Given the description of an element on the screen output the (x, y) to click on. 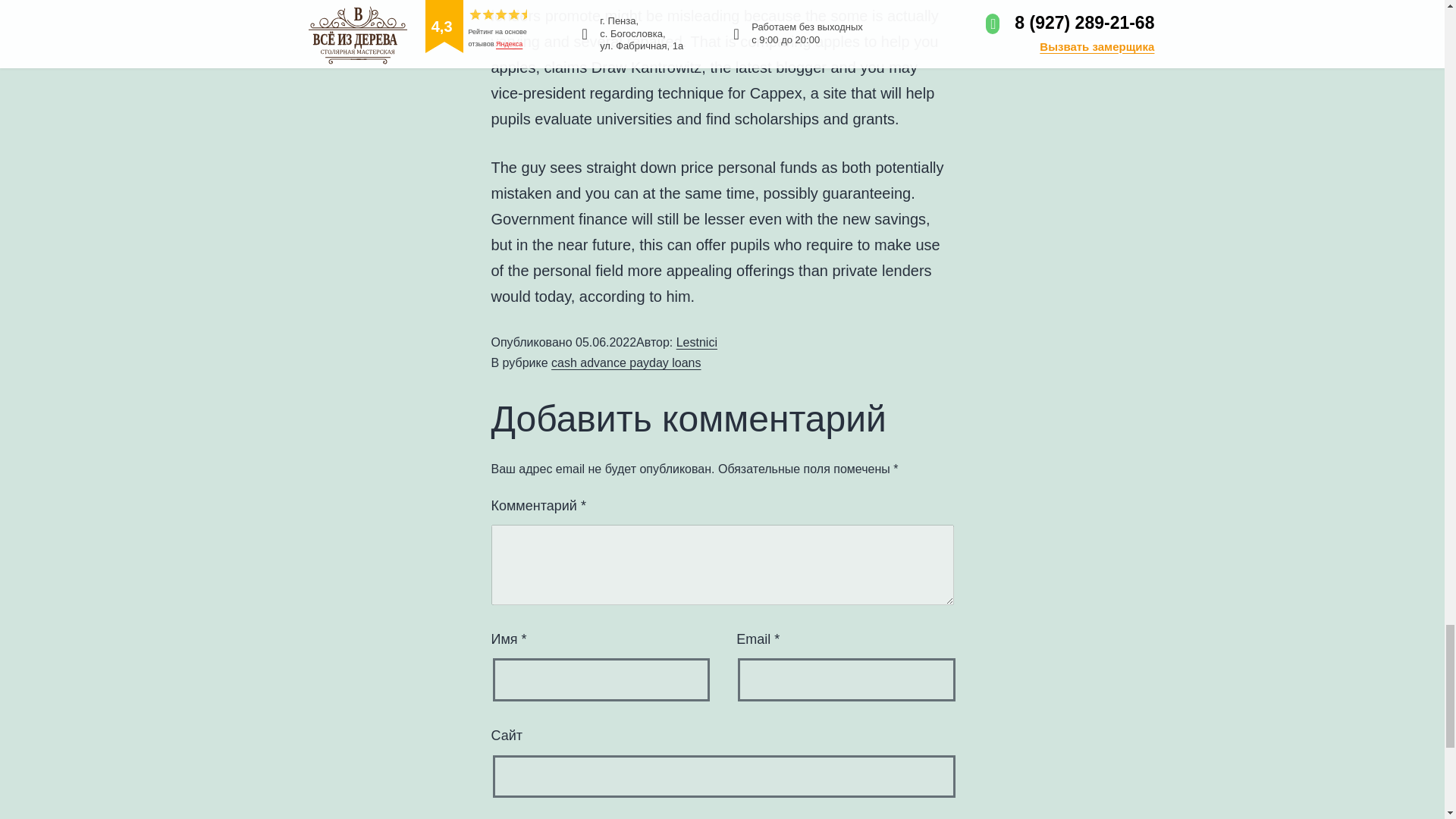
Lestnici (697, 341)
cash advance payday loans (625, 362)
